Given the description of an element on the screen output the (x, y) to click on. 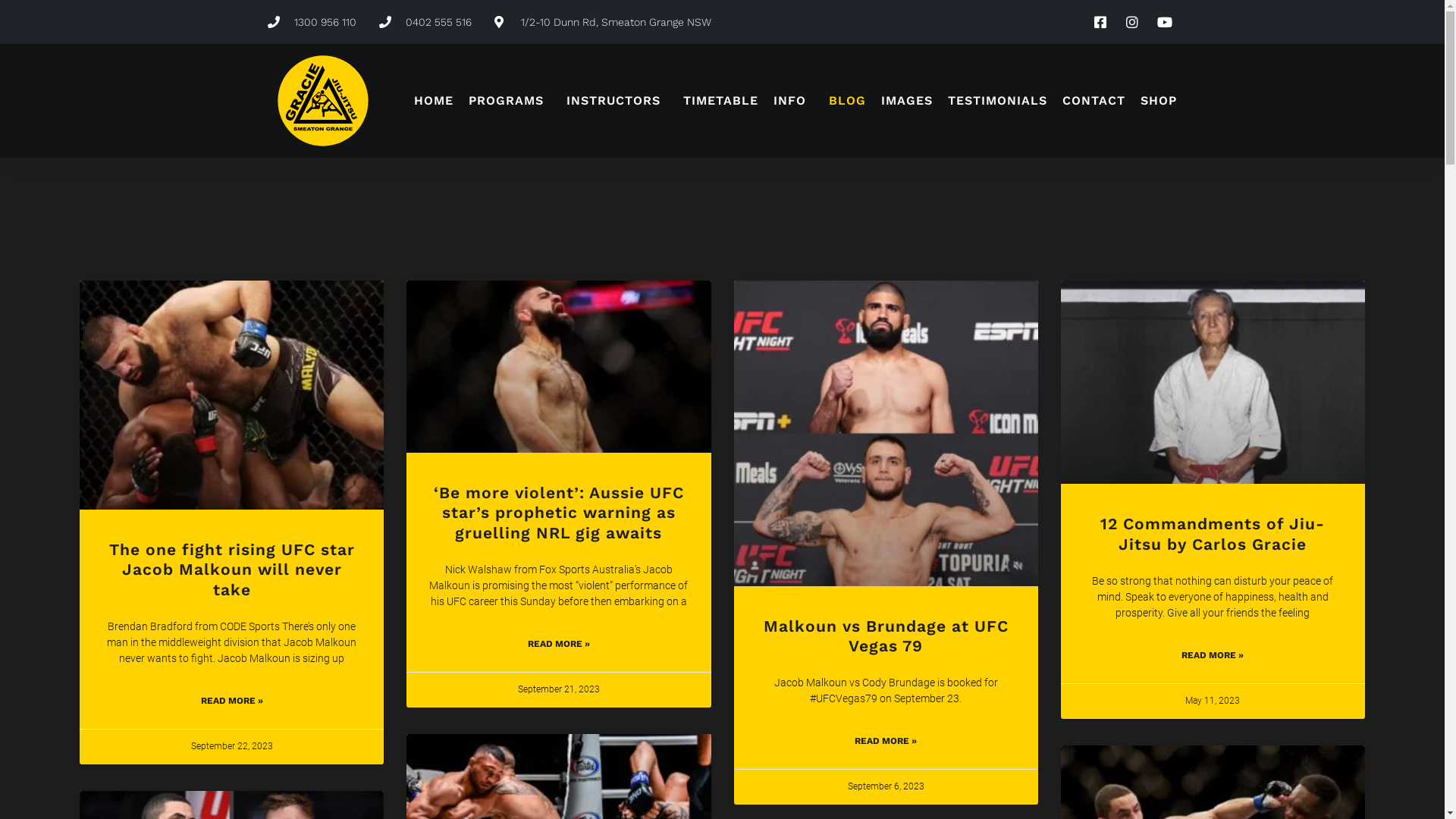
CONTACT Element type: text (1093, 100)
SHOP Element type: text (1158, 100)
BLOG Element type: text (847, 100)
INFO Element type: text (793, 100)
HOME Element type: text (433, 100)
Malkoun vs Brundage at UFC Vegas 79 Element type: text (885, 635)
TESTIMONIALS Element type: text (997, 100)
1300 956 110 Element type: text (310, 21)
PROGRAMS Element type: text (509, 100)
IMAGES Element type: text (906, 100)
12 Commandments of Jiu-Jitsu by Carlos Gracie Element type: text (1212, 533)
The one fight rising UFC star Jacob Malkoun will never take Element type: text (231, 569)
TIMETABLE Element type: text (720, 100)
0402 555 516 Element type: text (425, 21)
INSTRUCTORS Element type: text (617, 100)
1/2-10 Dunn Rd, Smeaton Grange NSW Element type: text (602, 21)
